Given the description of an element on the screen output the (x, y) to click on. 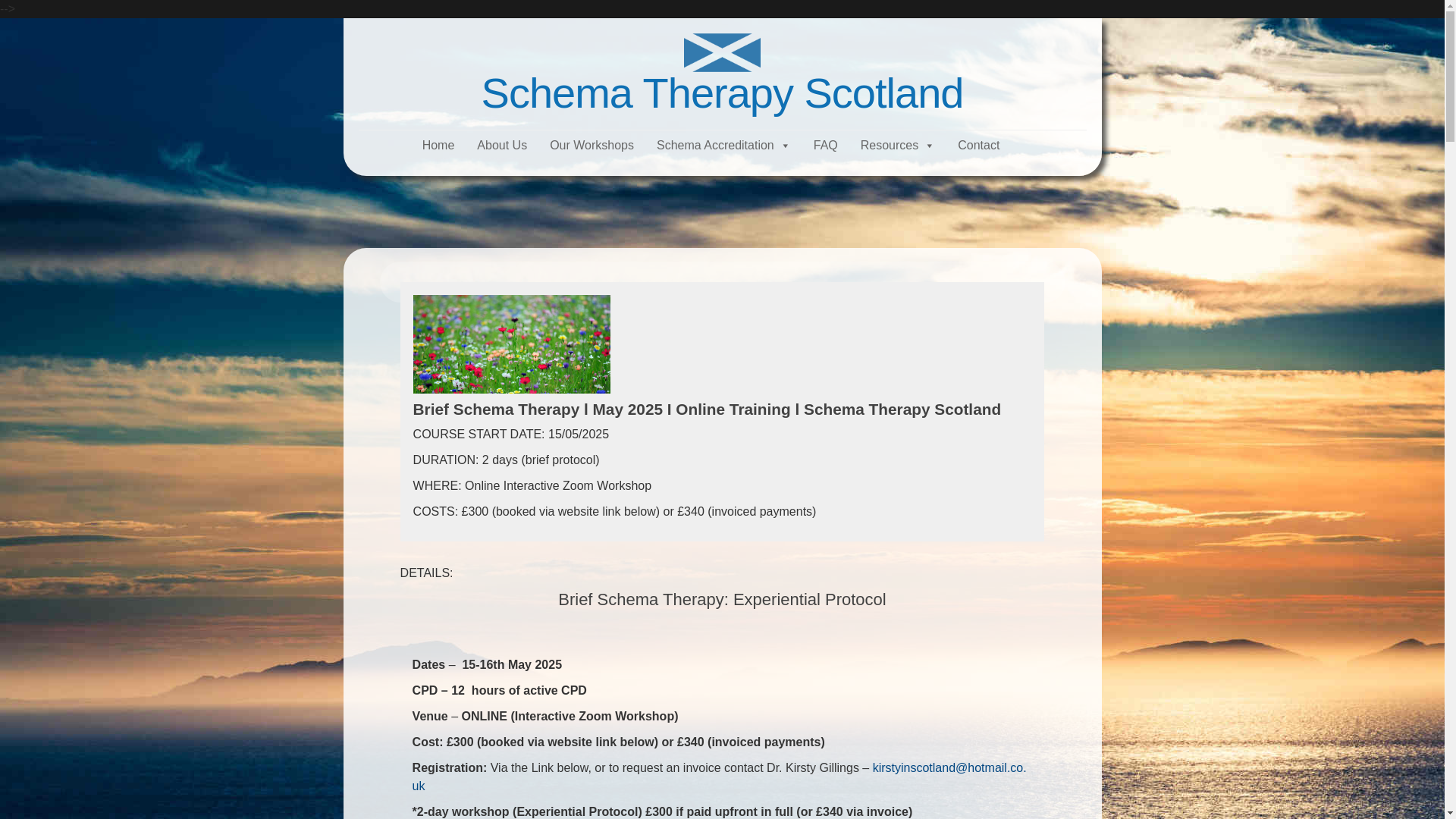
Contact (978, 145)
Our Workshops (591, 145)
Home (438, 145)
About Us (502, 145)
FAQ (825, 145)
Resources (897, 145)
Schema Accreditation (723, 145)
